Given the description of an element on the screen output the (x, y) to click on. 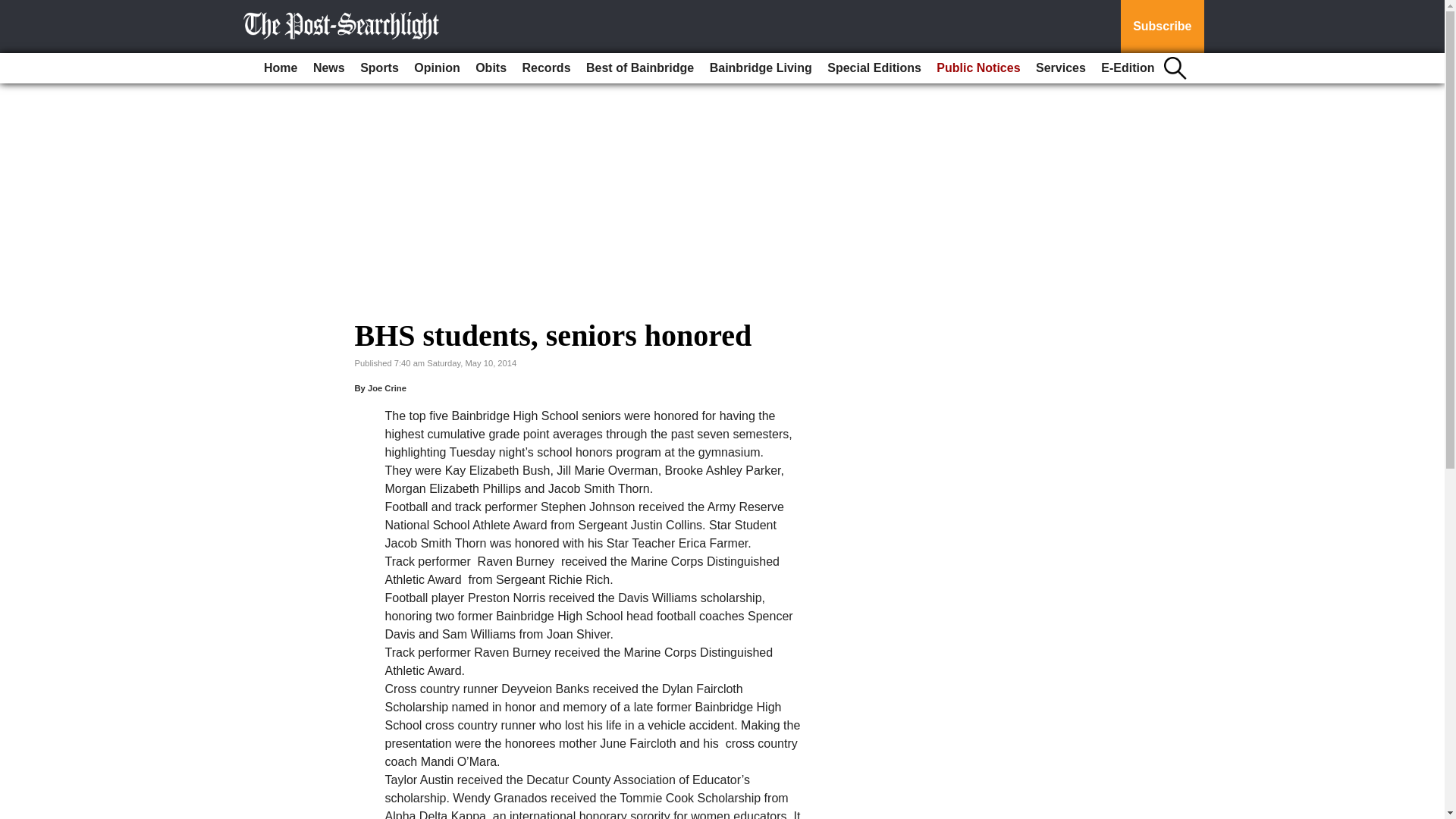
Go (13, 9)
E-Edition (1127, 68)
News (328, 68)
Obits (490, 68)
Subscribe (1162, 26)
Special Editions (874, 68)
Public Notices (978, 68)
Opinion (436, 68)
Bainbridge Living (760, 68)
Home (279, 68)
